Given the description of an element on the screen output the (x, y) to click on. 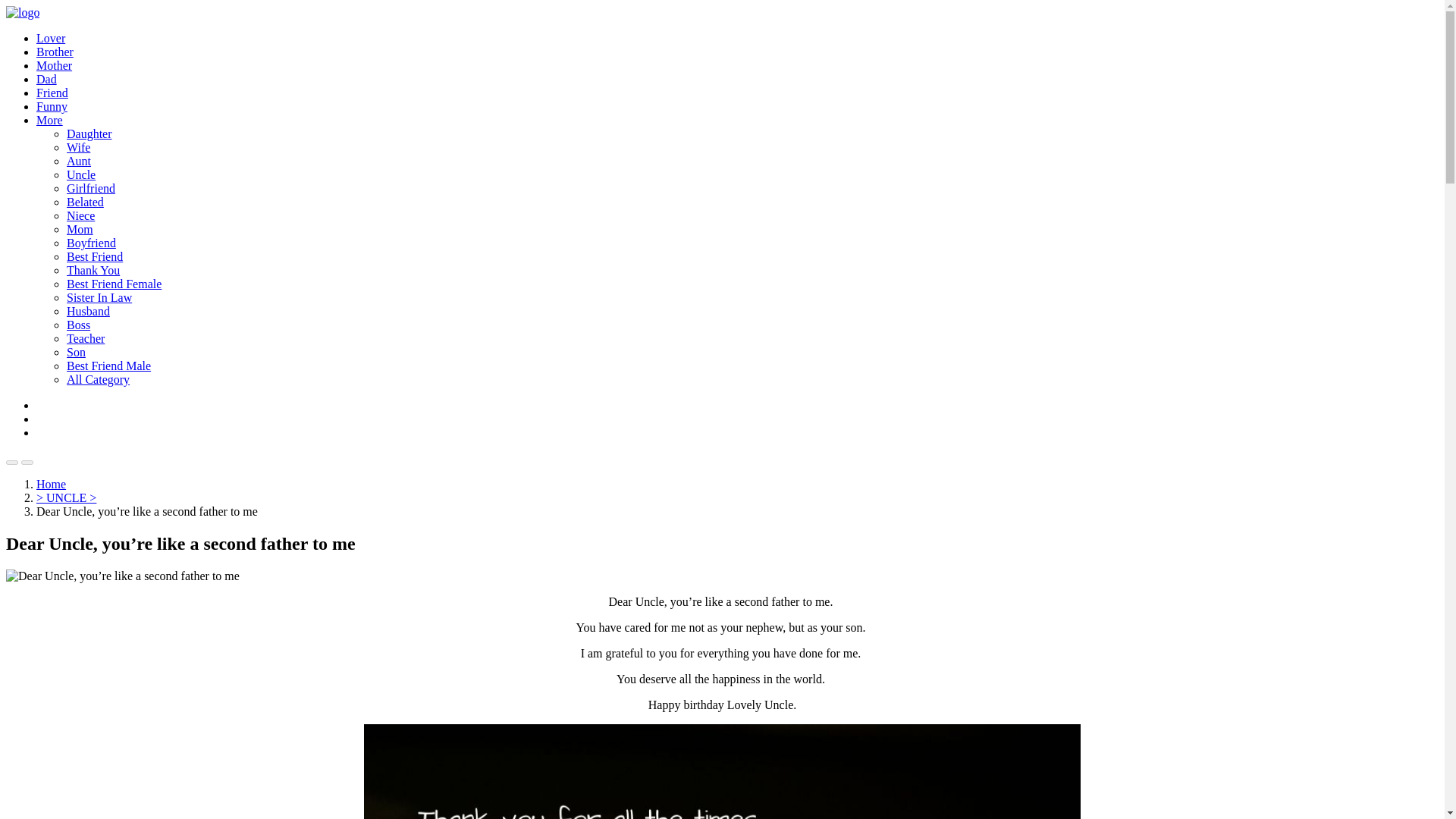
Funny (51, 106)
Niece (80, 215)
Belated (84, 201)
Uncle (81, 174)
Husband (88, 310)
Friend (52, 92)
Dad (46, 78)
Best Friend Female (113, 283)
Brother (55, 51)
Mom (79, 228)
